Given the description of an element on the screen output the (x, y) to click on. 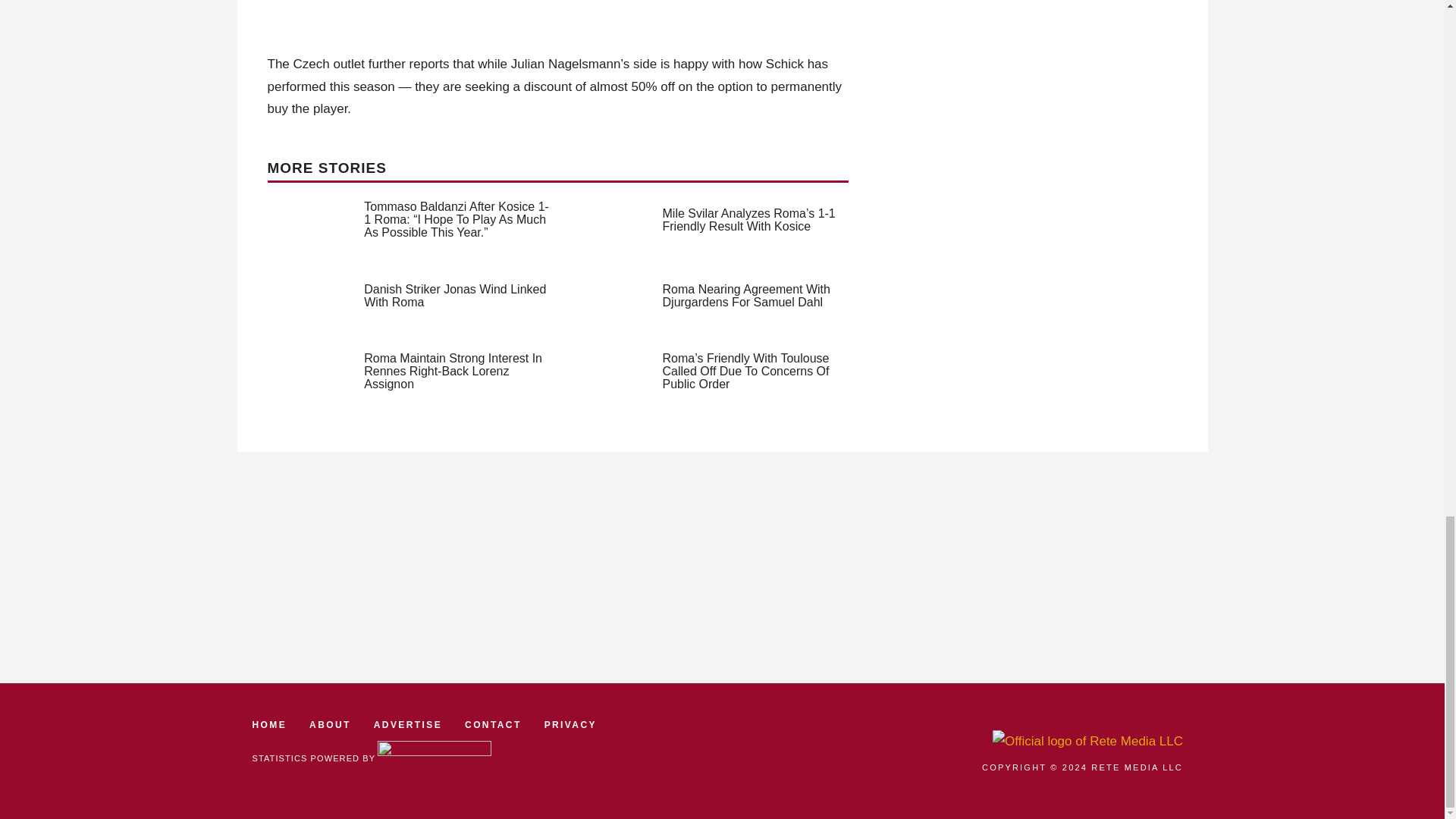
CONTACT (492, 725)
PRIVACY (570, 725)
Roma Nearing Agreement With Djurgardens For Samuel Dahl (745, 295)
Danish Striker Jonas Wind Linked With Roma (455, 295)
ADVERTISE (408, 725)
ABOUT (329, 725)
HOME (268, 725)
